Given the description of an element on the screen output the (x, y) to click on. 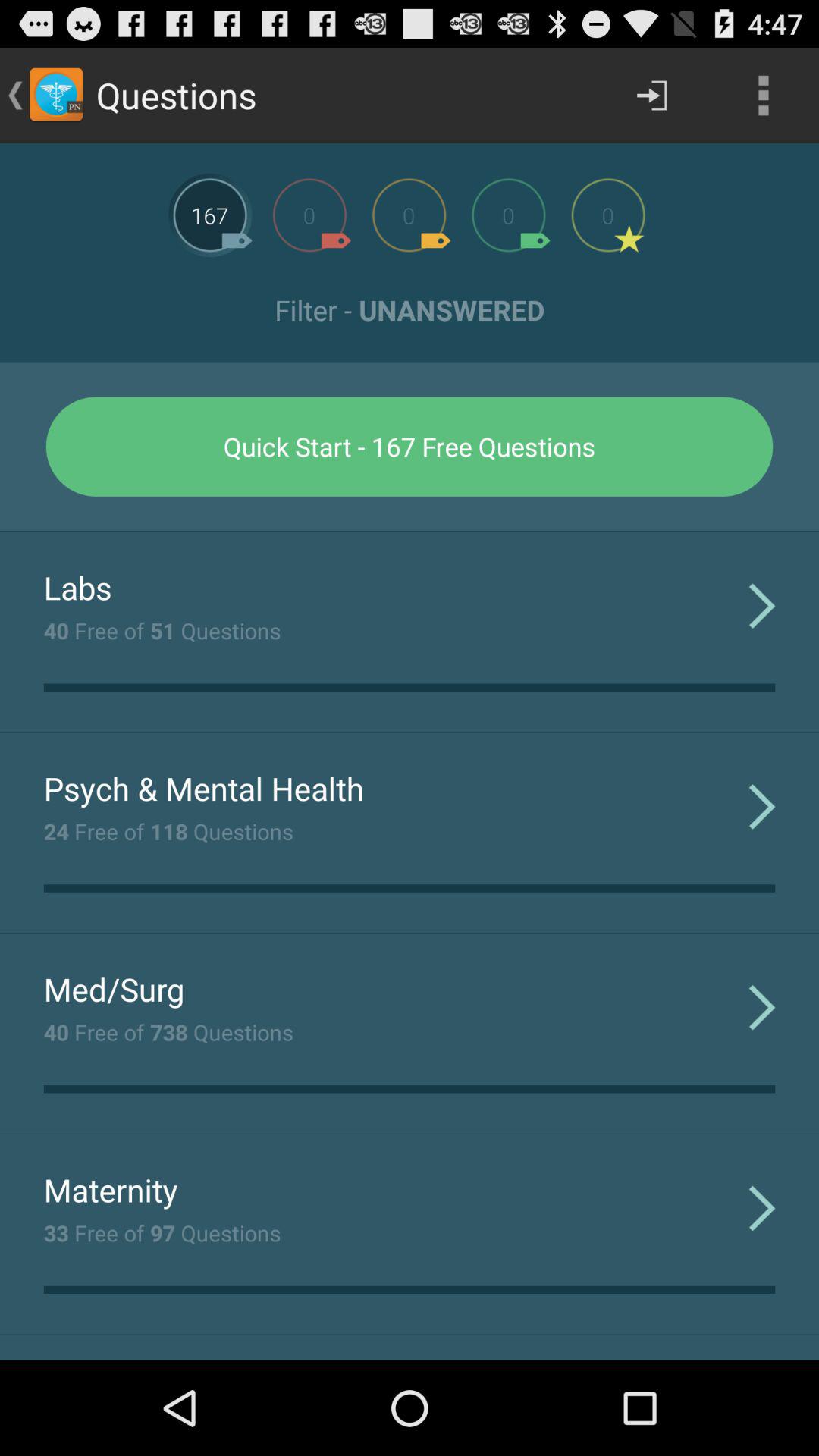
tap icon at the center (409, 530)
